Given the description of an element on the screen output the (x, y) to click on. 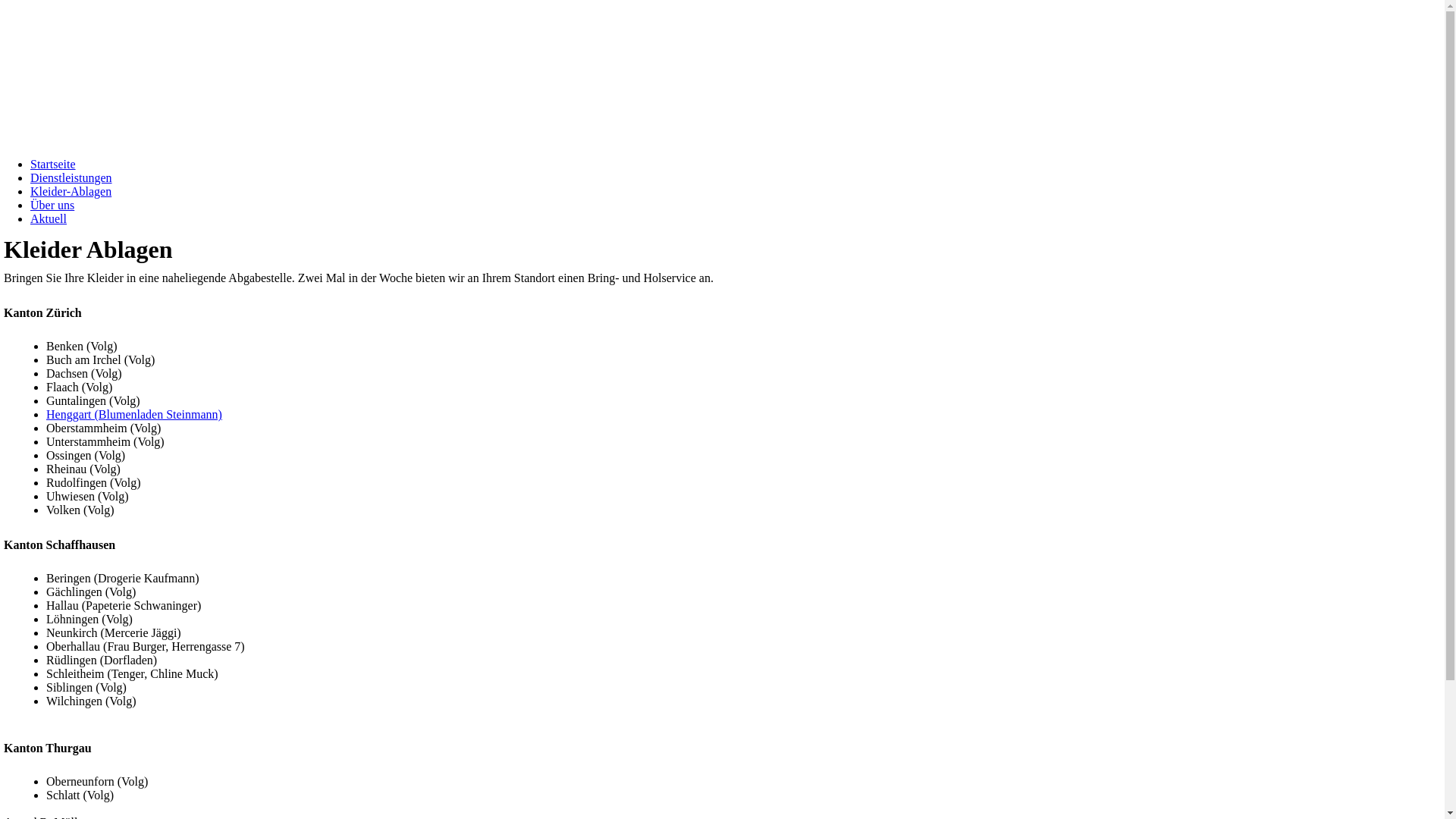
Kleider-Ablagen Element type: text (70, 191)
Henggart (Blumenladen Steinmann) Element type: text (134, 413)
Dienstleistungen Element type: text (71, 177)
Startseite Element type: text (52, 163)
Aktuell Element type: text (48, 218)
